Given the description of an element on the screen output the (x, y) to click on. 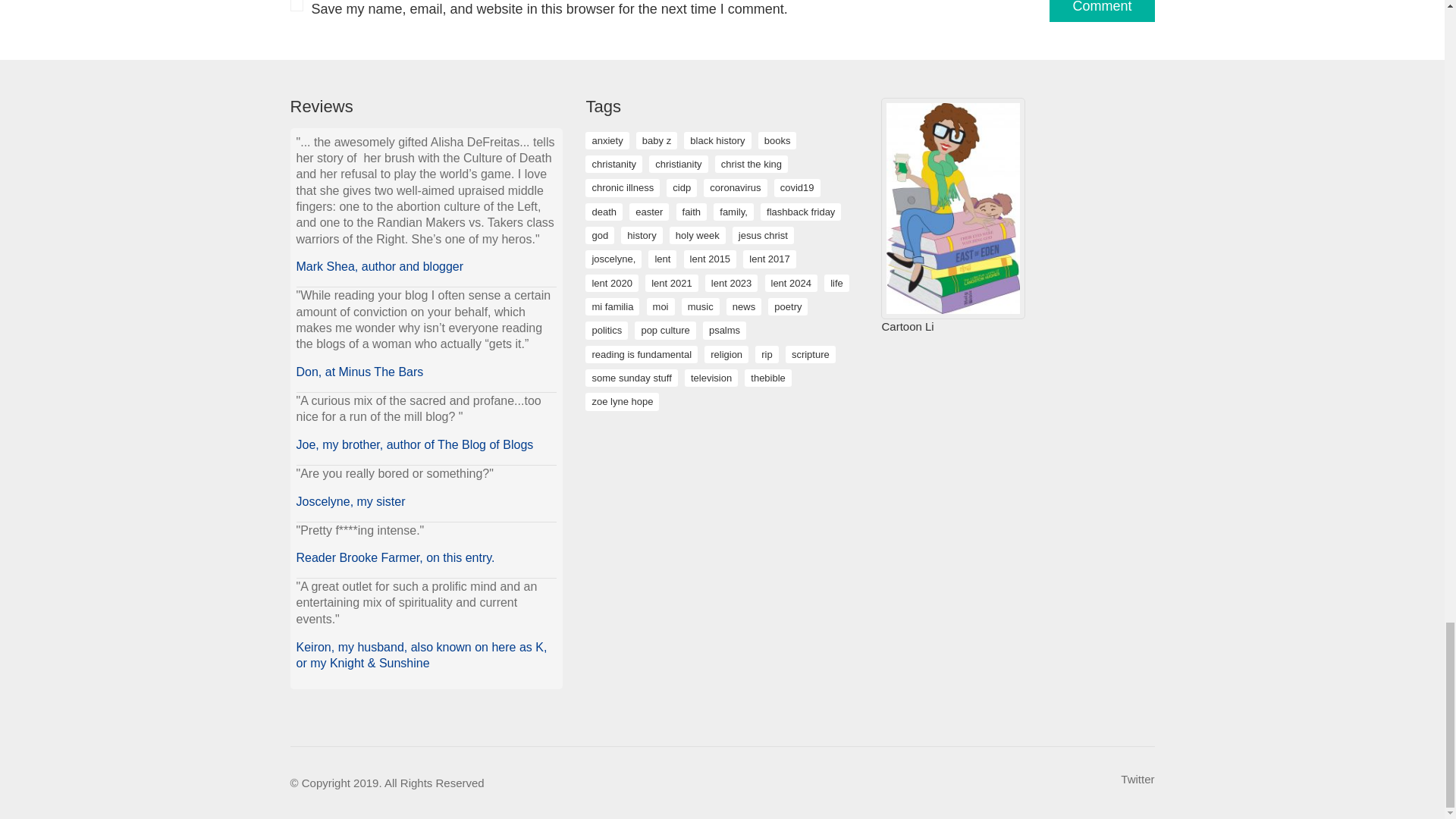
Comment (1101, 11)
yes (295, 5)
Twitter (1137, 779)
